Given the description of an element on the screen output the (x, y) to click on. 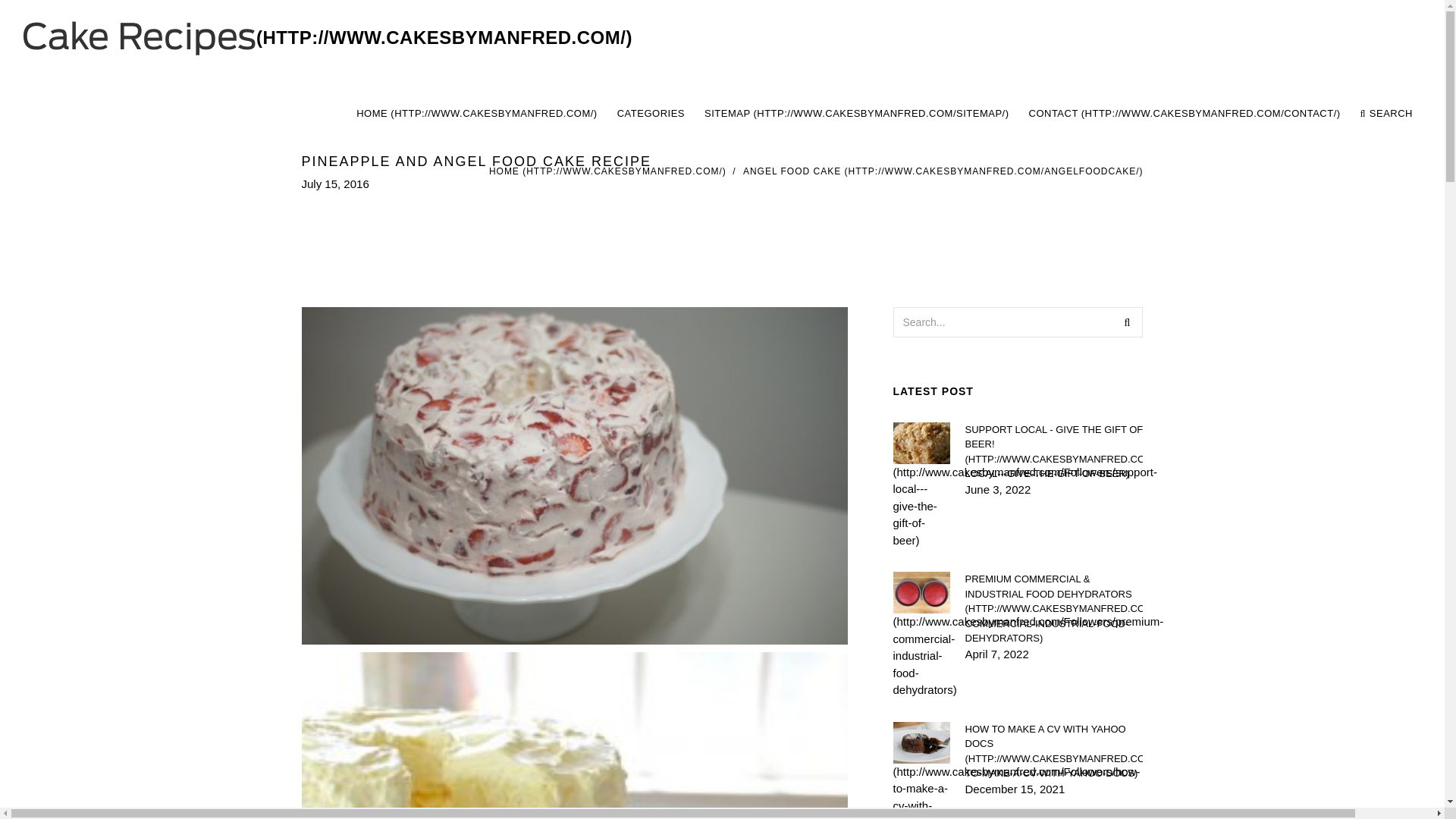
Cake Recipes (327, 38)
ANGEL FOOD CAKE (942, 171)
CONTACT (1184, 113)
CATEGORIES (651, 113)
SITEMAP (856, 113)
HOME (477, 113)
SUPPORT LOCAL - GIVE THE GIFT OF BEER! (1052, 450)
SEARCH (1386, 113)
Search (1126, 321)
HOME (607, 171)
